Given the description of an element on the screen output the (x, y) to click on. 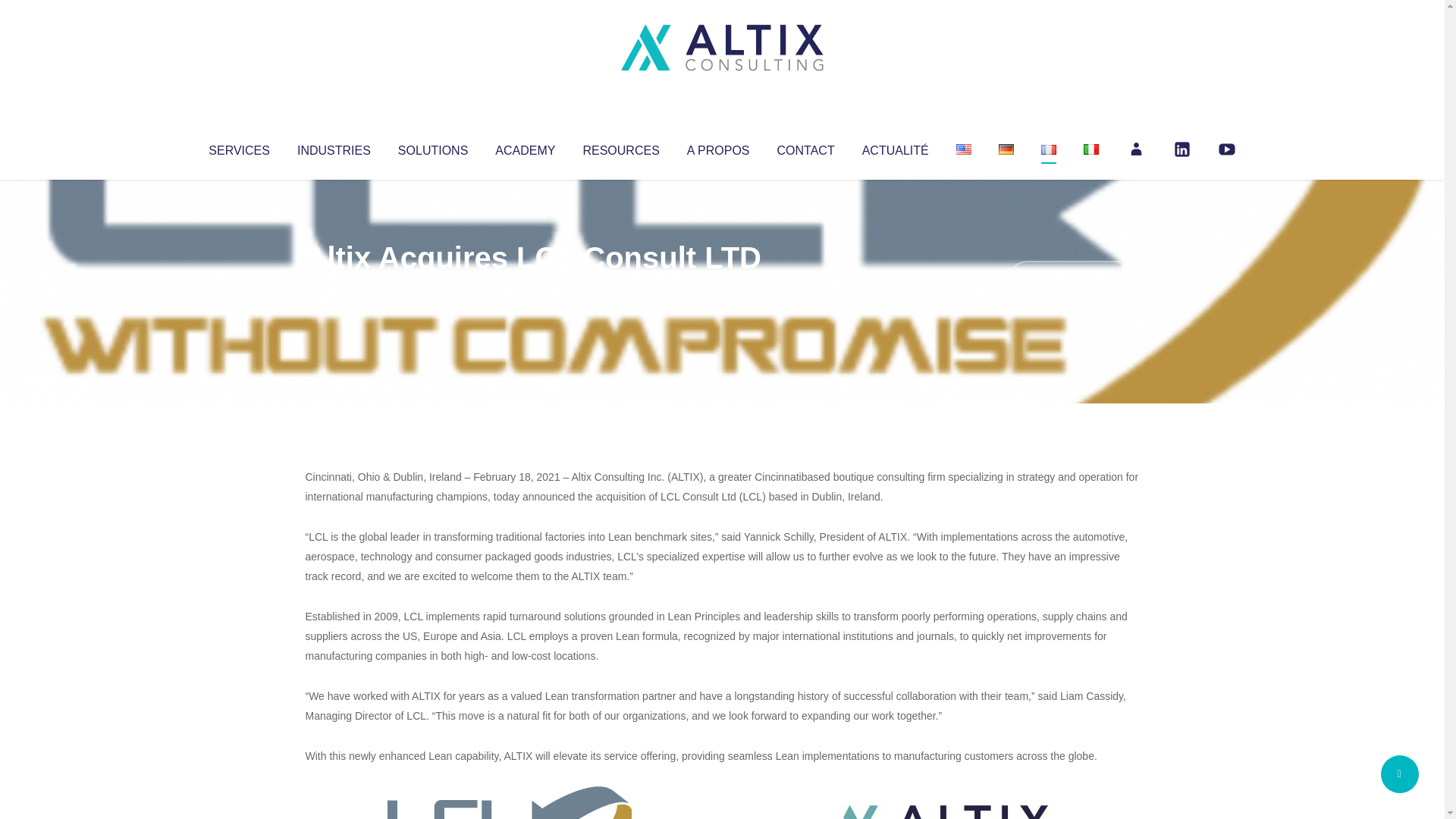
Articles par Altix (333, 287)
RESOURCES (620, 146)
ACADEMY (524, 146)
No Comments (1073, 278)
INDUSTRIES (334, 146)
SERVICES (238, 146)
Altix (333, 287)
Uncategorized (530, 287)
SOLUTIONS (432, 146)
A PROPOS (718, 146)
